Given the description of an element on the screen output the (x, y) to click on. 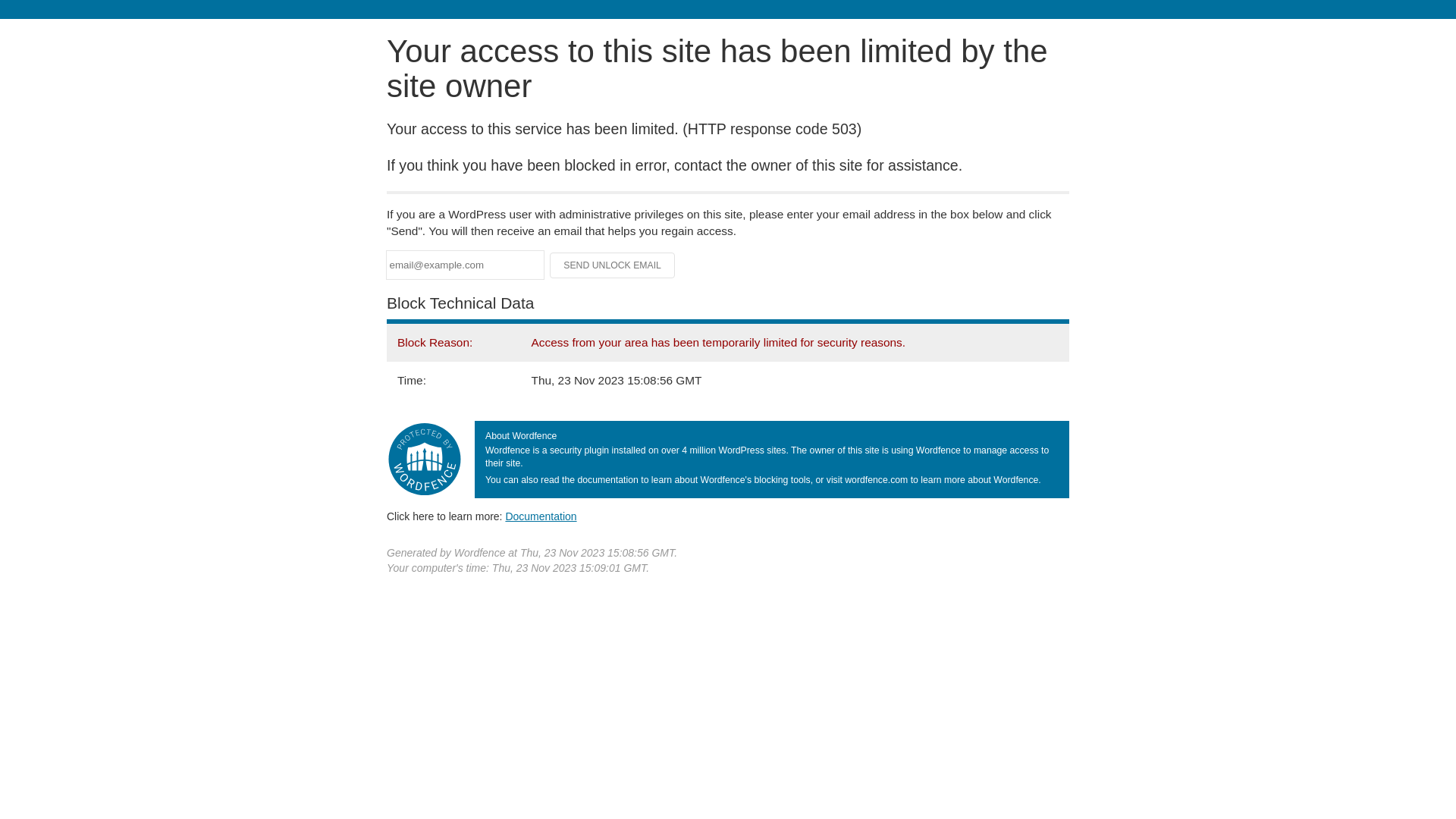
Documentation Element type: text (540, 516)
Send Unlock Email Element type: text (612, 265)
